Given the description of an element on the screen output the (x, y) to click on. 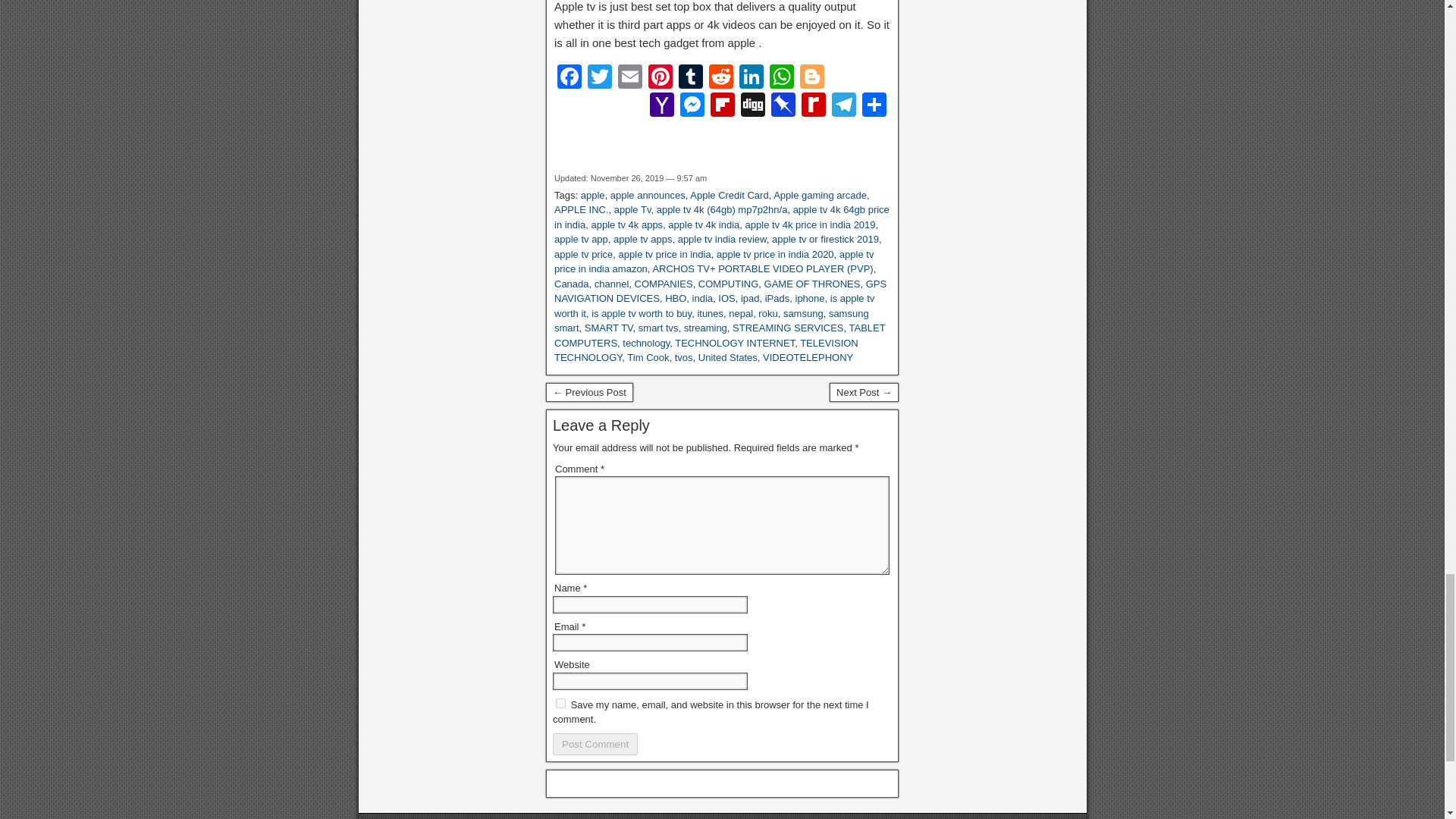
Messenger (692, 106)
Email (629, 78)
Apple gaming arcade (819, 194)
LinkedIn (751, 78)
Pinboard (782, 106)
Post Comment (595, 744)
Facebook (569, 78)
Tumblr (690, 78)
Digg (753, 106)
Twitter (599, 78)
Yahoo Mail (661, 106)
Messenger (692, 106)
Yahoo Mail (661, 106)
yes (561, 703)
Email (629, 78)
